Given the description of an element on the screen output the (x, y) to click on. 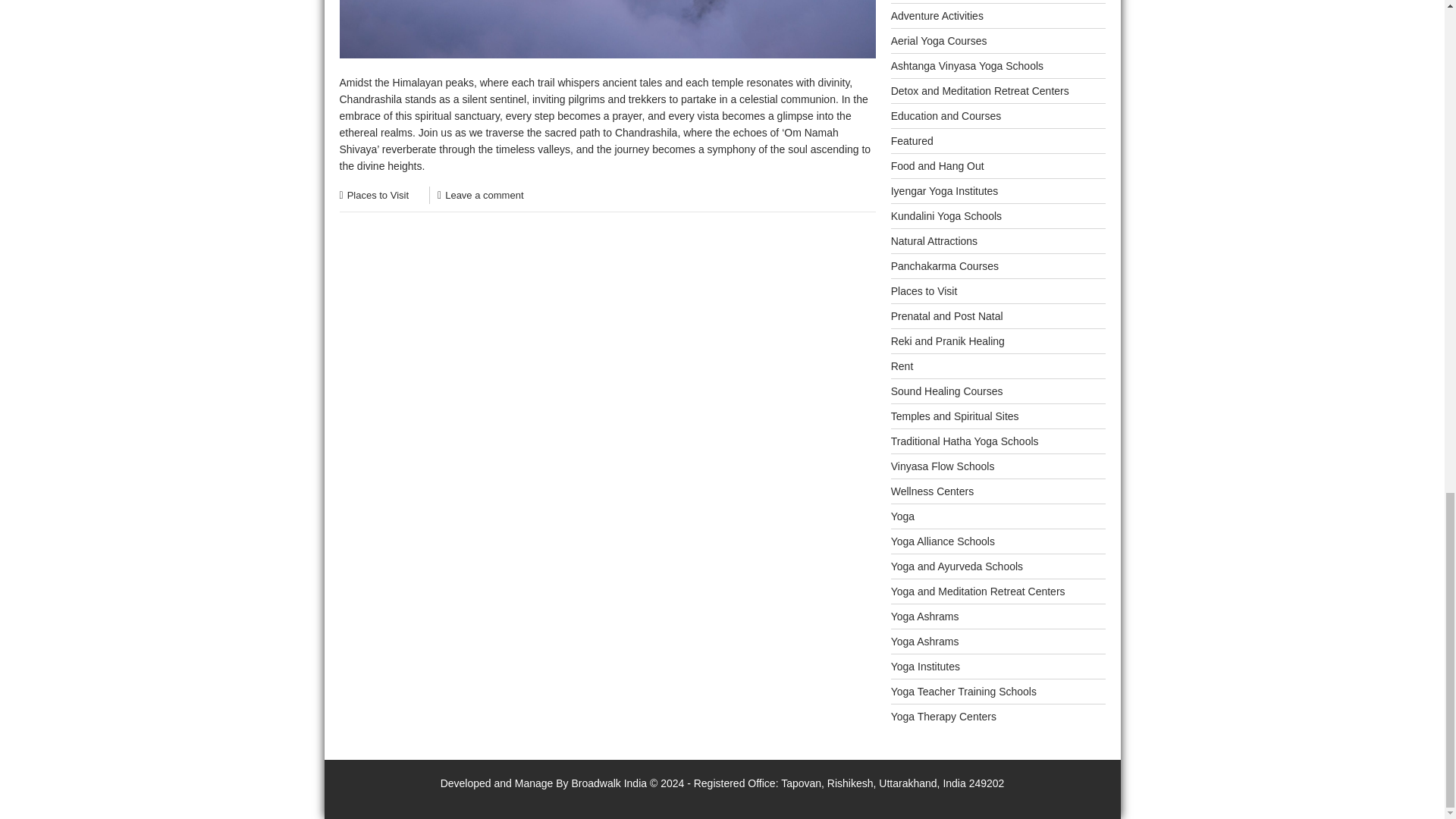
Places to Visit (378, 194)
Leave a comment (483, 194)
